Given the description of an element on the screen output the (x, y) to click on. 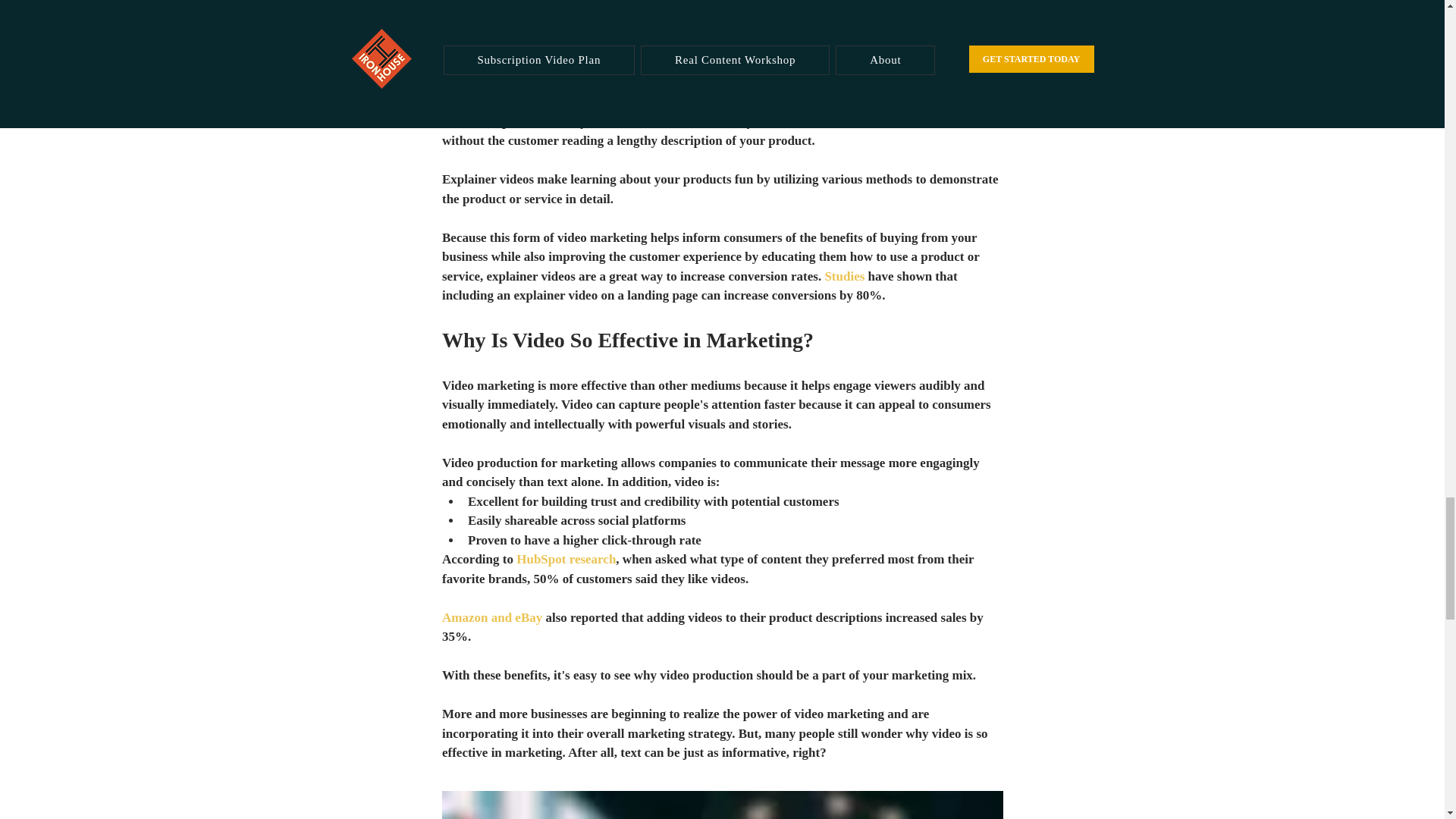
 HubSpot research (563, 559)
Amazon and eBay (491, 617)
Studies (844, 276)
Explainer Videos (488, 63)
